Given the description of an element on the screen output the (x, y) to click on. 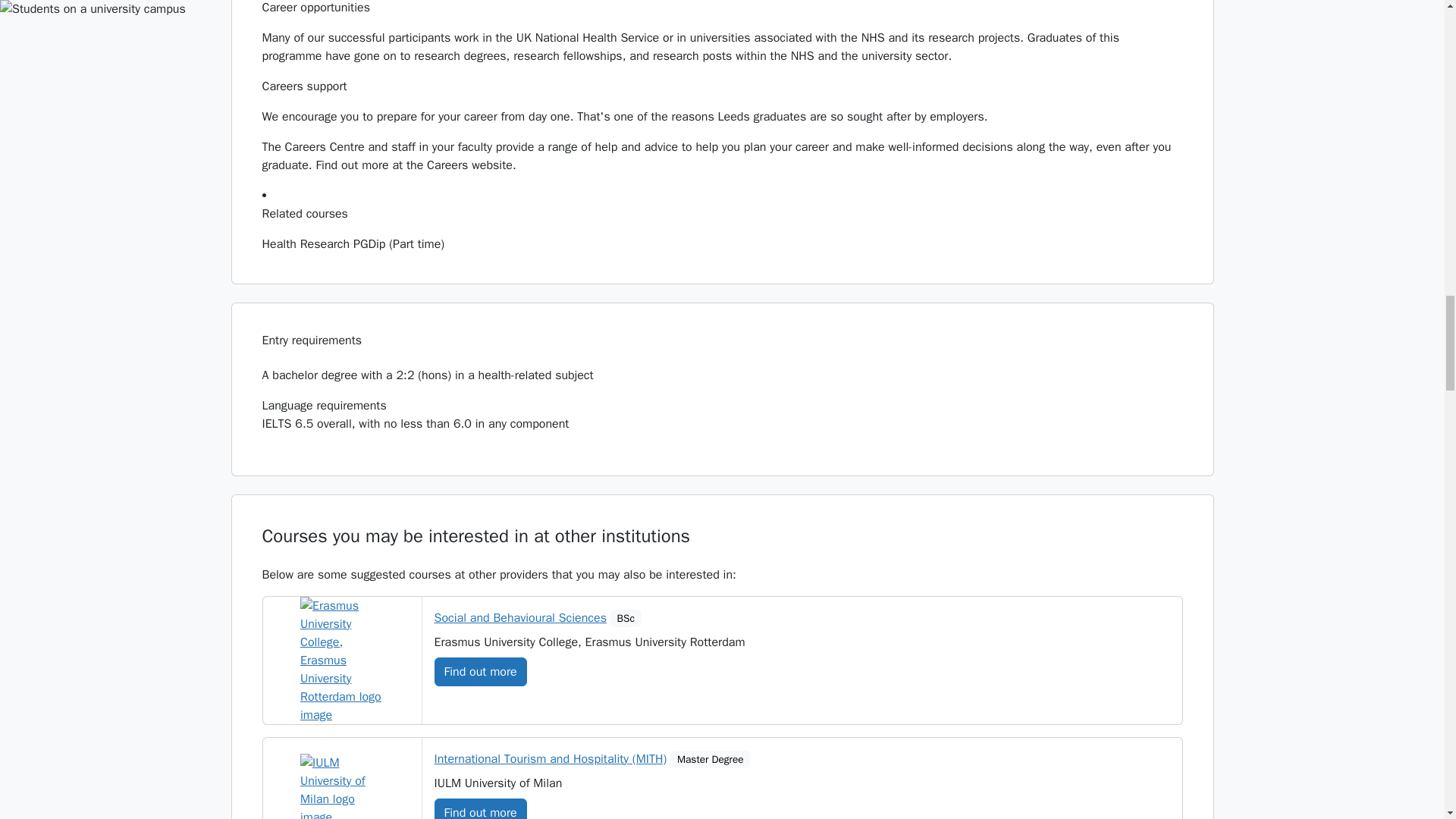
IULM University of Milan (341, 786)
Erasmus University College, Erasmus University Rotterdam (341, 660)
